Given the description of an element on the screen output the (x, y) to click on. 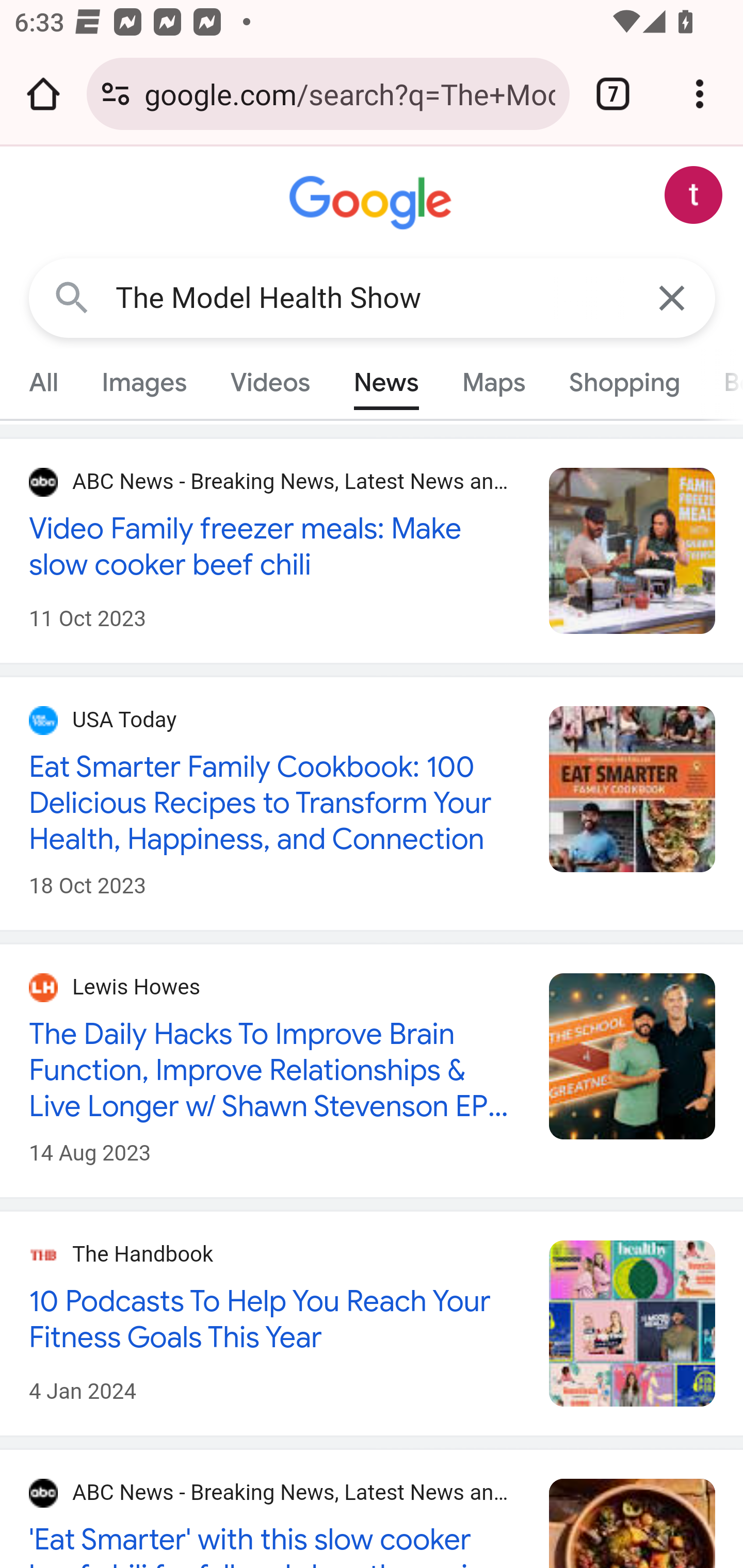
Open the home page (43, 93)
Connection is secure (115, 93)
Switch or close tabs (612, 93)
Customize and control Google Chrome (699, 93)
Google (372, 203)
Google Search (71, 296)
Clear Search (672, 296)
The Model Health Show (372, 297)
All (43, 382)
Images (144, 382)
Videos (270, 382)
Maps (493, 382)
Shopping (623, 382)
